Given the description of an element on the screen output the (x, y) to click on. 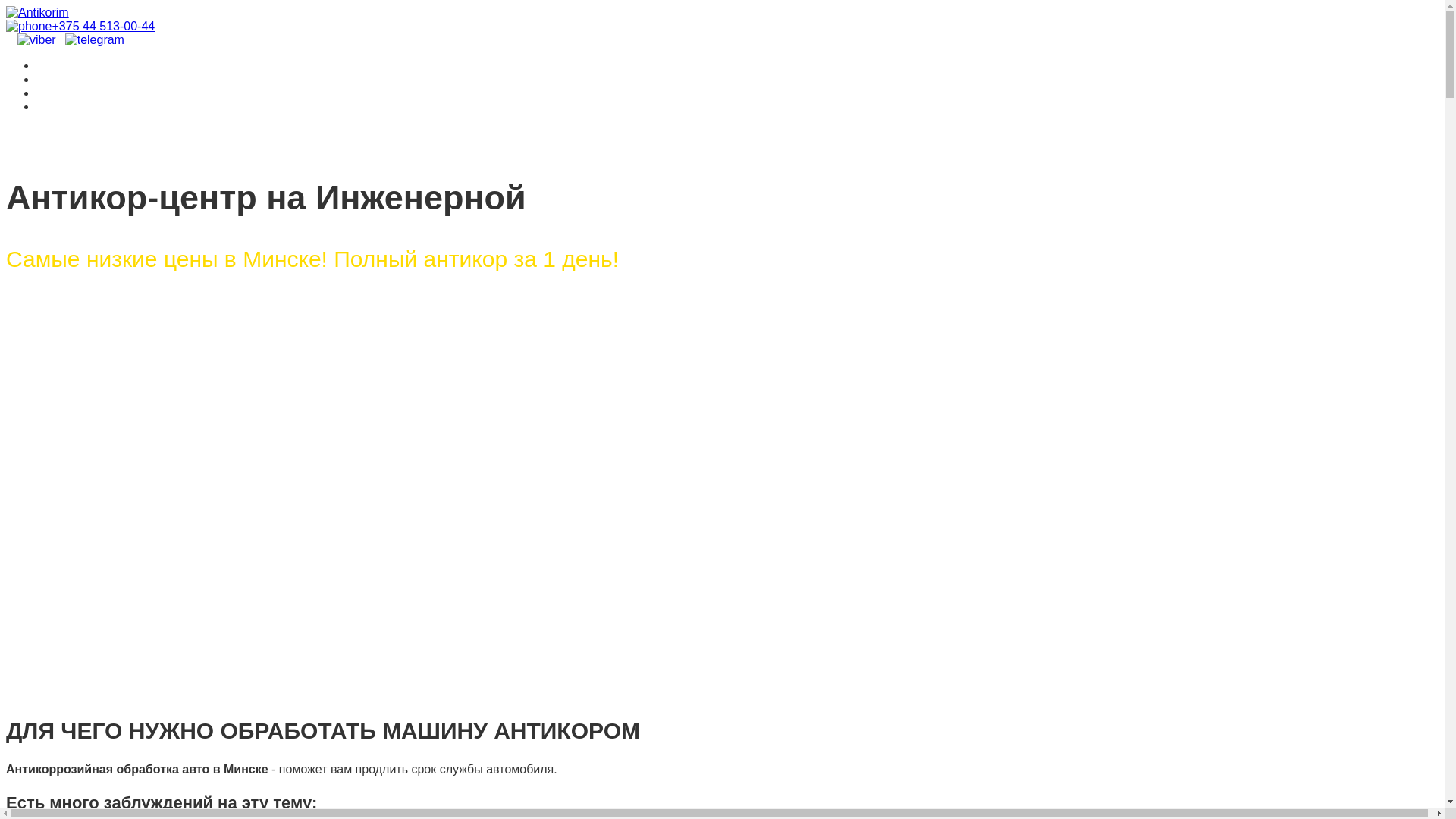
+375 44 513-00-44 Element type: text (80, 25)
